Given the description of an element on the screen output the (x, y) to click on. 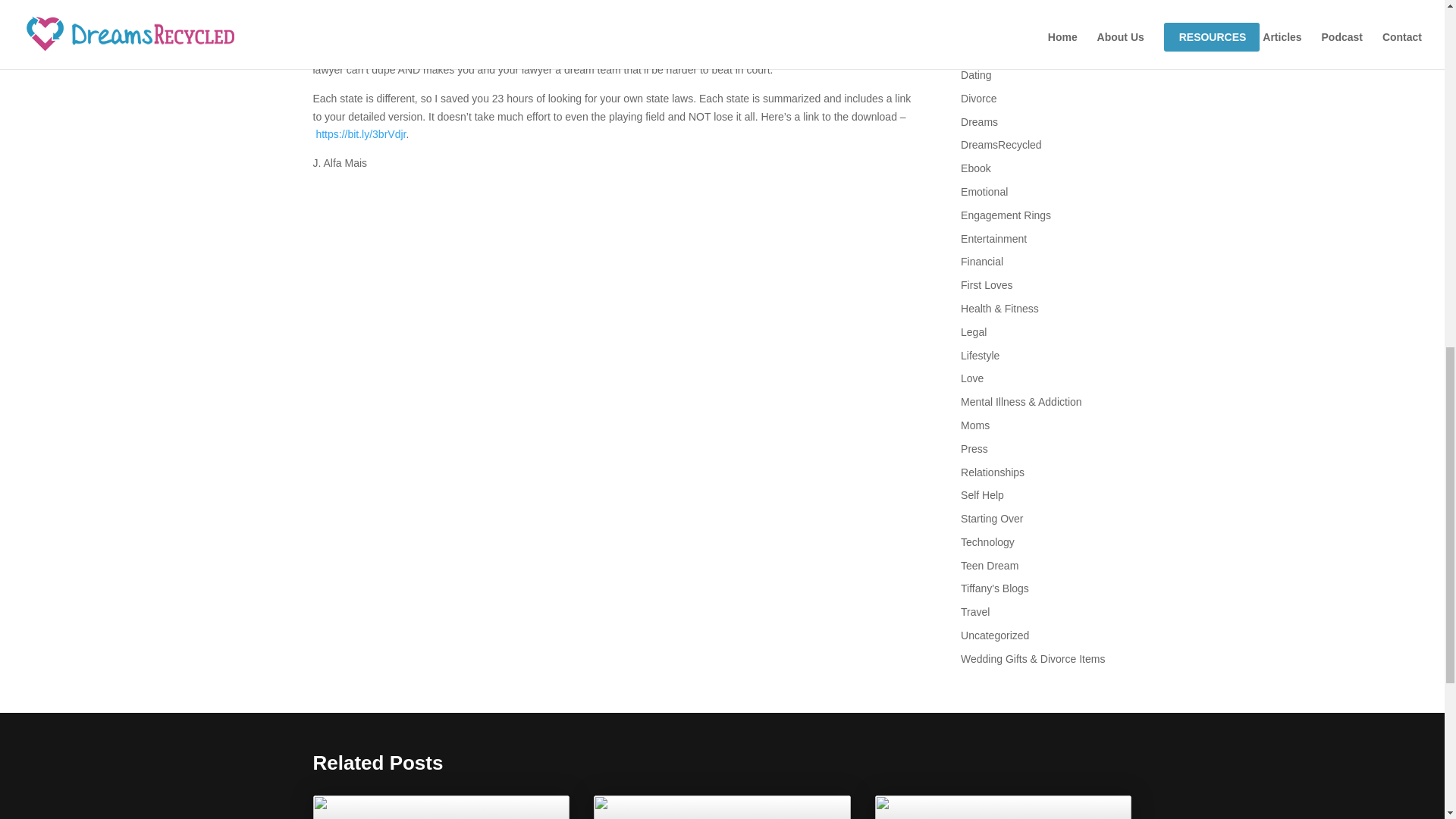
Dating (975, 74)
DreamsRecycled (1001, 144)
Ebook (975, 168)
Children of Divorce (1005, 28)
Engagement Rings (1005, 215)
Emotional (983, 191)
Dreams (978, 121)
Entertainment (993, 238)
Dads (972, 51)
Career (976, 5)
Divorce (977, 98)
